Given the description of an element on the screen output the (x, y) to click on. 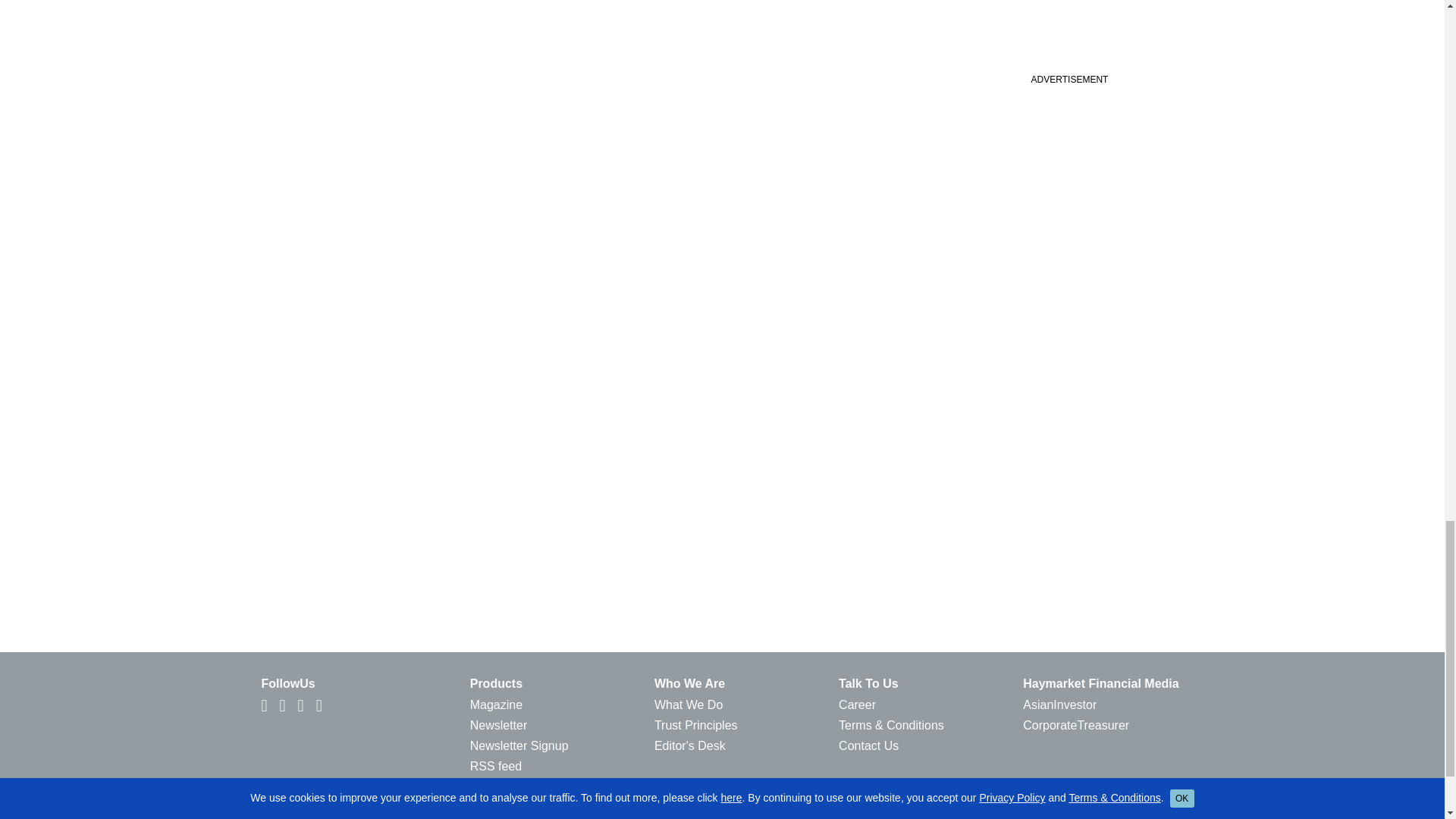
3rd party ad content (1068, 81)
